Given the description of an element on the screen output the (x, y) to click on. 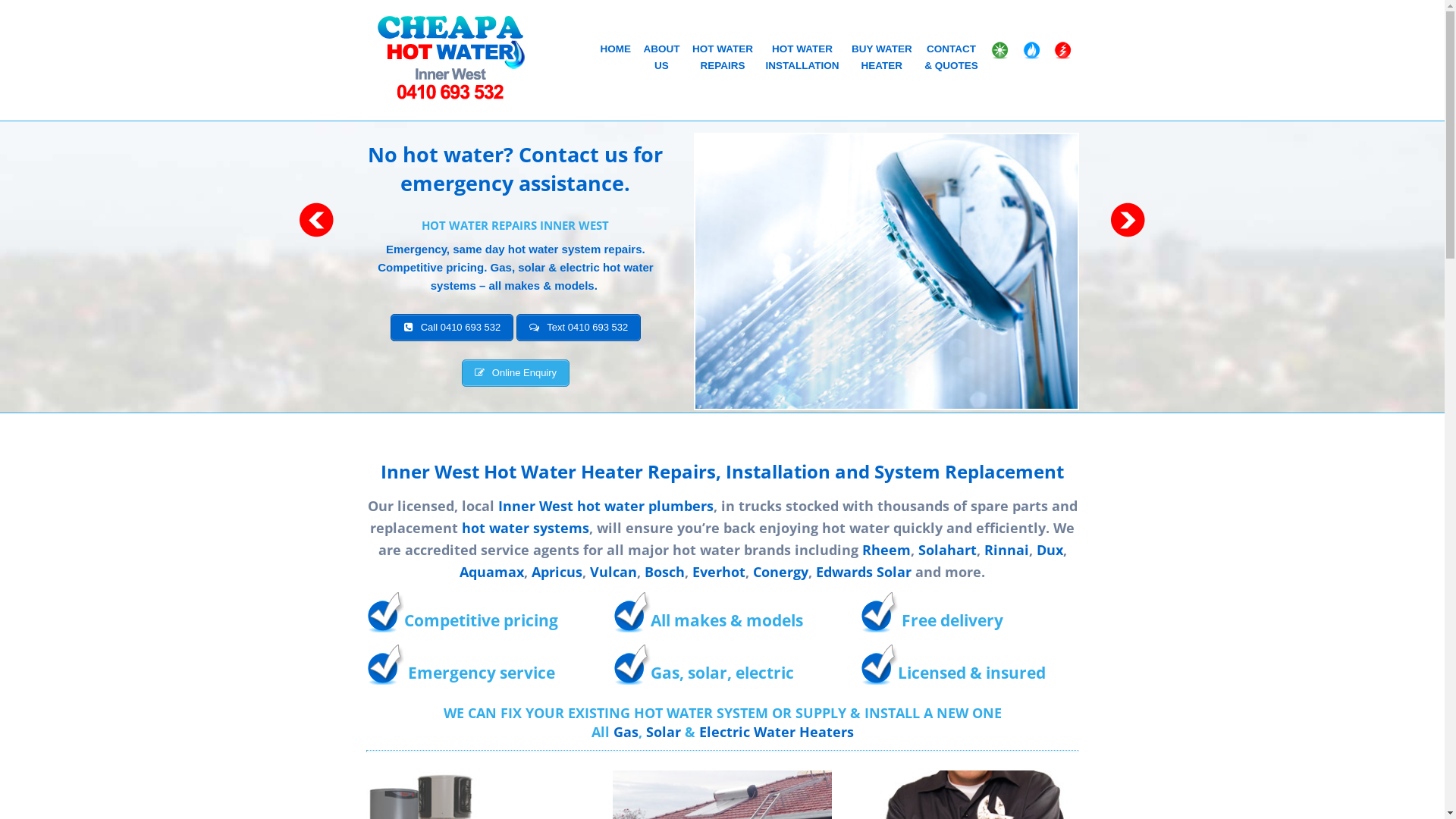
Electric Water Heaters Element type: text (776, 731)
HOT WATER
INSTALLATION Element type: text (802, 59)
Aquamax Element type: text (491, 571)
Vulcan Element type: text (613, 571)
No hot water? Contact us for emergency assistance. Element type: hover (886, 270)
Solar Element type: text (665, 731)
Text 0410 693 532 Element type: text (578, 327)
hot water systems Element type: text (525, 527)
Solahart Element type: text (946, 549)
Bosch Element type: text (664, 571)
CONTACT
& QUOTES Element type: text (950, 59)
Inner West hot water plumbers Element type: text (604, 505)
Gas Element type: text (624, 731)
Edwards Solar Element type: text (863, 571)
Rheem Element type: text (885, 549)
Next Element type: text (1127, 219)
Conergy Element type: text (780, 571)
Previous Element type: text (315, 219)
Online Enquiry Element type: text (515, 372)
Hot Water Heater Repairs, Service and Installation Element type: hover (450, 56)
HOT WATER
REPAIRS Element type: text (722, 59)
HOME Element type: text (615, 50)
Apricus Element type: text (556, 571)
Everhot Element type: text (718, 571)
ABOUT
US Element type: text (661, 59)
Dux Element type: text (1048, 549)
BUY WATER
HEATER Element type: text (881, 59)
Rinnai Element type: text (1006, 549)
No hot water? Contact us for emergency assistance. Element type: text (514, 168)
Call 0410 693 532 Element type: text (452, 327)
